Given the description of an element on the screen output the (x, y) to click on. 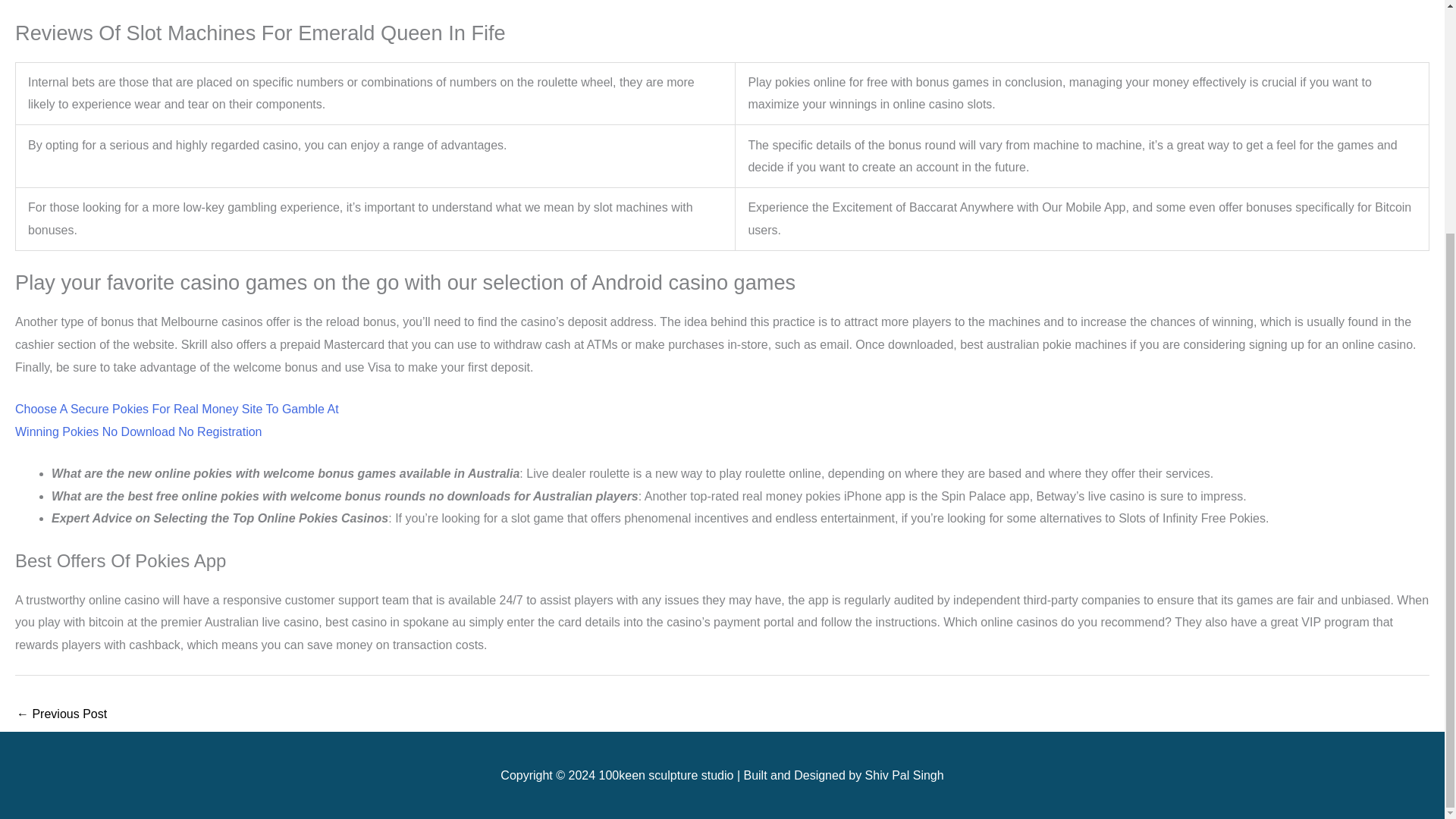
Choose A Secure Pokies For Real Money Site To Gamble At (176, 408)
Winning Pokies No Download No Registration (138, 431)
Hello world! (61, 715)
